Given the description of an element on the screen output the (x, y) to click on. 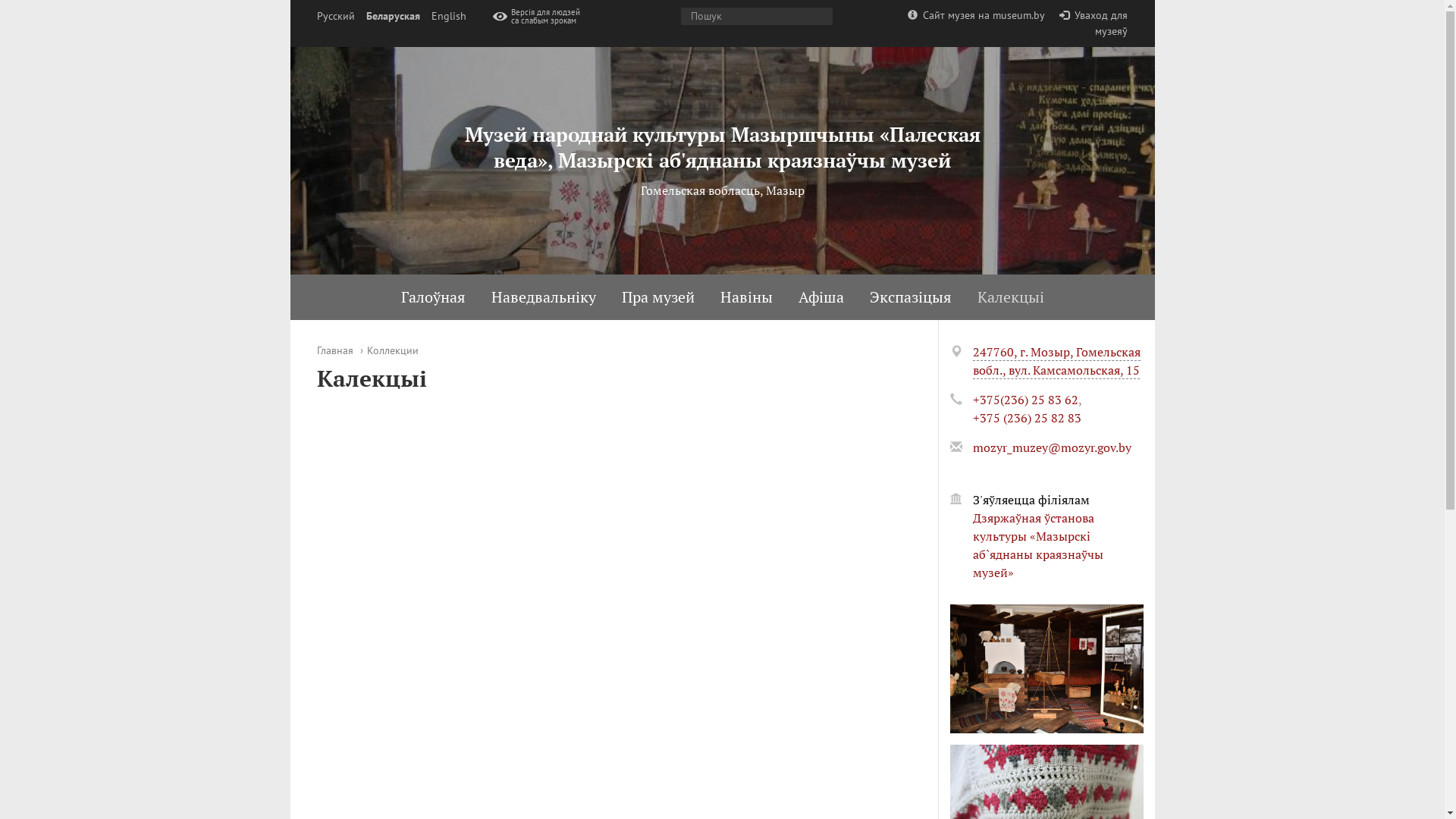
mozyr_muzey@mozyr.gov.by Element type: text (1051, 447)
+375(236) 25 83 62 Element type: text (1024, 399)
+375 (236) 25 82 83 Element type: text (1026, 417)
English Element type: text (447, 16)
